Given the description of an element on the screen output the (x, y) to click on. 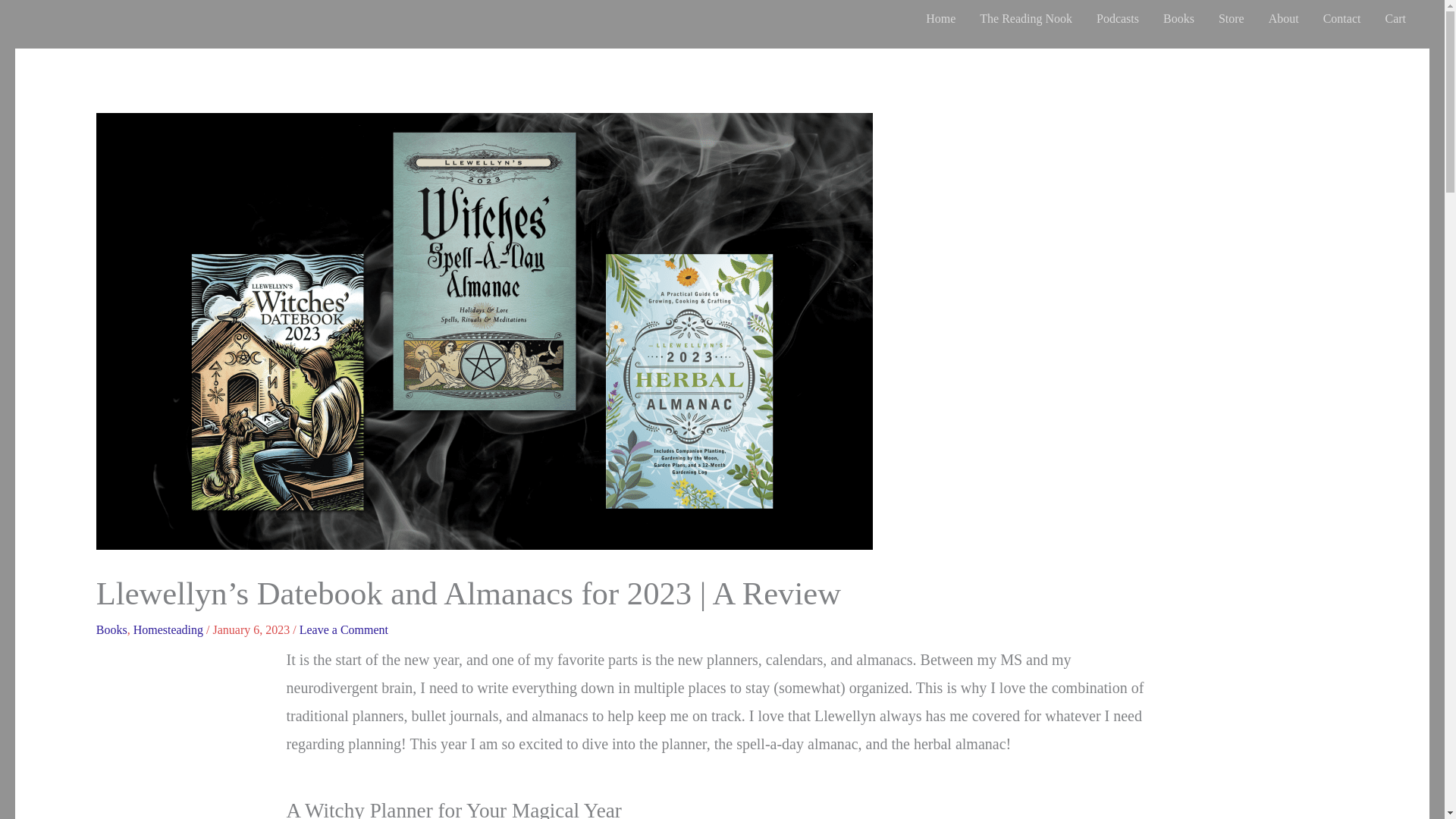
Cart (1395, 18)
Podcasts (1117, 18)
Store (1231, 18)
Contact (1342, 18)
The Reading Nook (1026, 18)
Leave a Comment (343, 629)
About (1283, 18)
Homesteading (168, 629)
Home (941, 18)
Books (1179, 18)
